Given the description of an element on the screen output the (x, y) to click on. 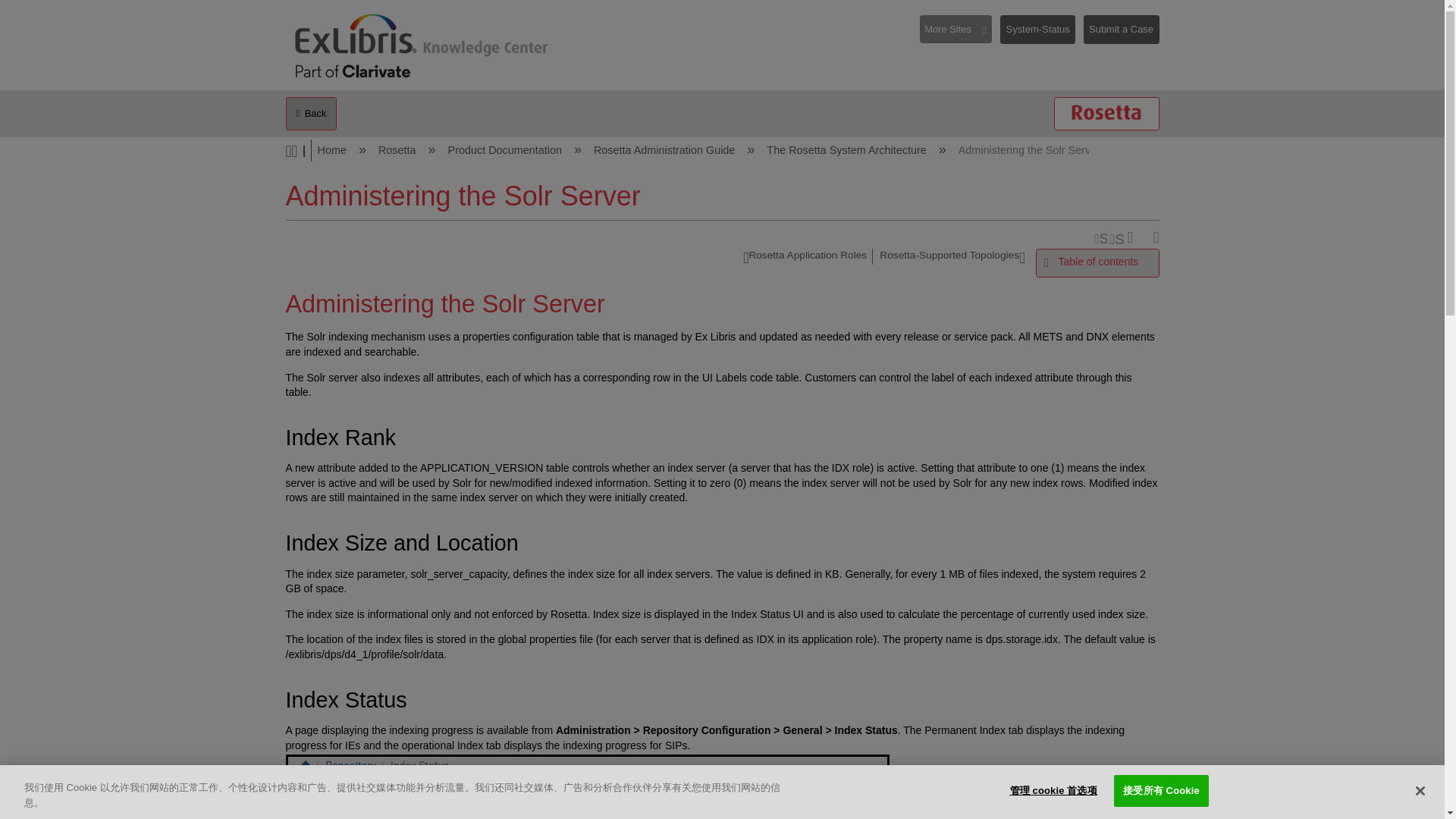
Share (1151, 237)
ExLibris (421, 50)
Back (310, 113)
Table of contents (1096, 263)
Rosetta Application Roles (804, 257)
System-Status (1041, 34)
System-Status (1037, 29)
Subscribe by RSS (1100, 237)
Rosetta (398, 150)
Home (333, 150)
Export page as a PDF (1133, 237)
Product Documentation (506, 150)
Subscribe by RSS (1100, 237)
The Rosetta System Architecture (847, 150)
Rosetta Administration Guide (666, 150)
